Given the description of an element on the screen output the (x, y) to click on. 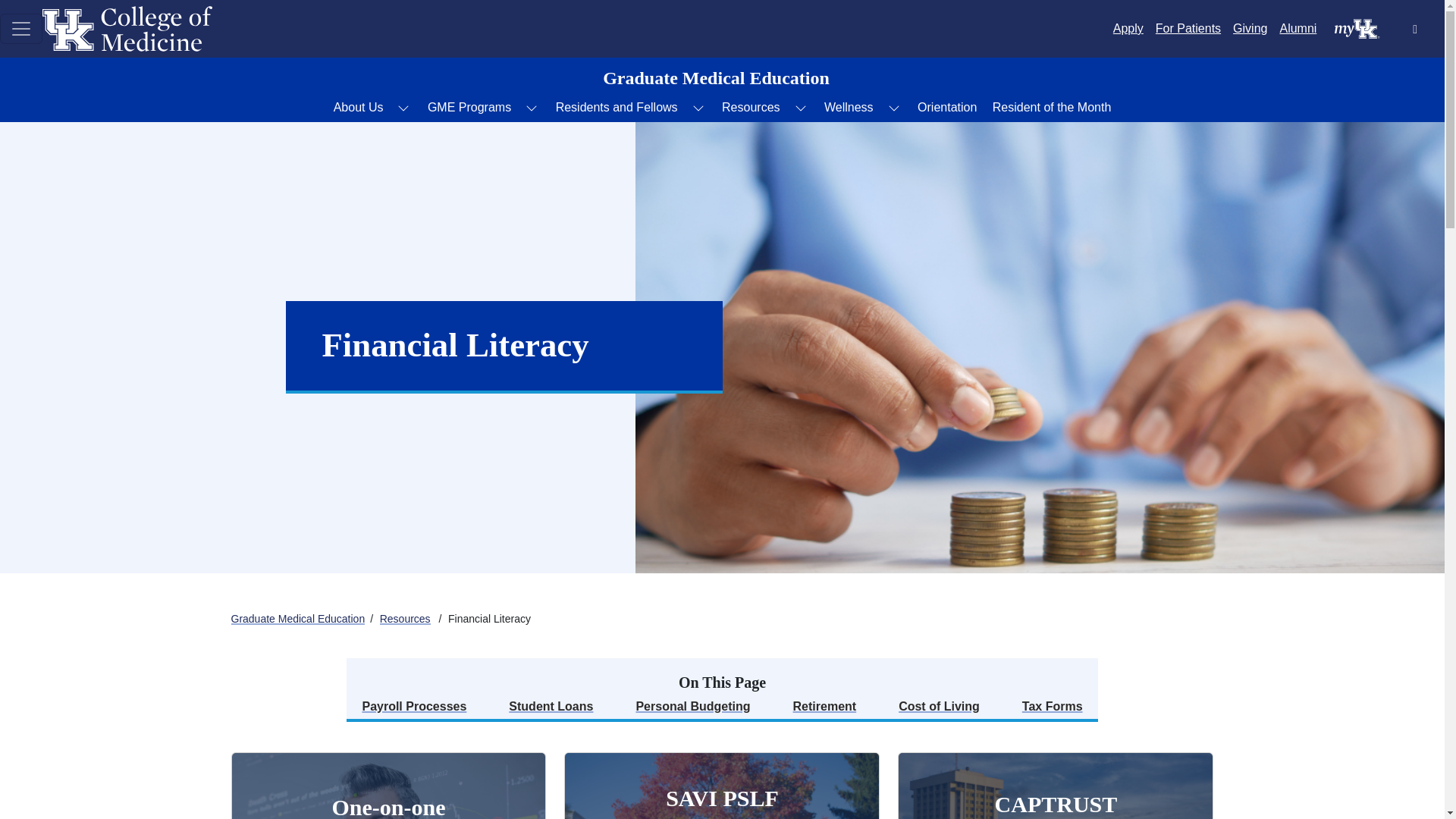
Log into the myUK portal (1357, 27)
